Given the description of an element on the screen output the (x, y) to click on. 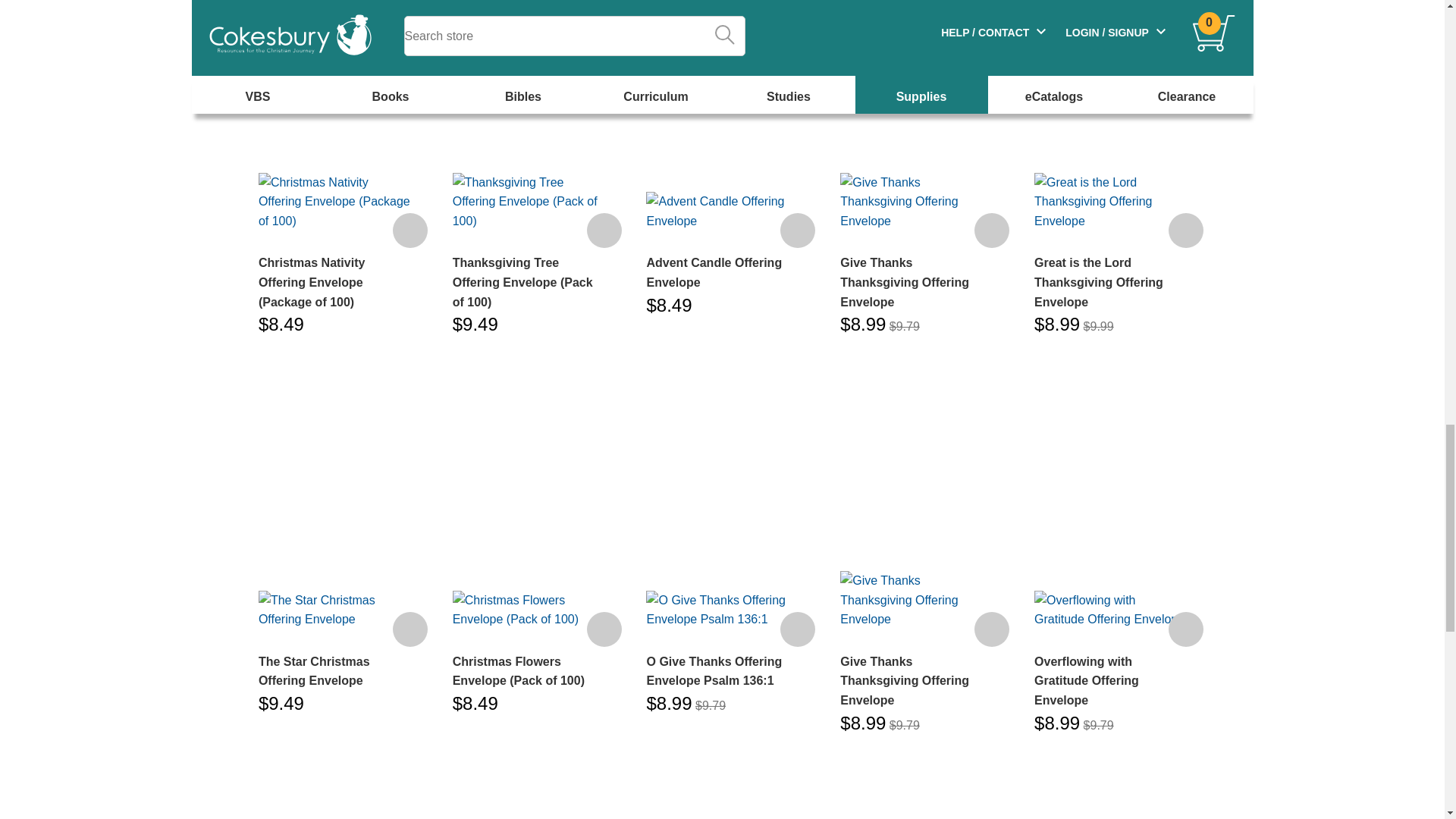
Add To Cart (797, 629)
Add To Cart (991, 629)
Add To Cart (410, 230)
Add To Cart (797, 230)
Add To Cart (991, 230)
Add To Cart (603, 629)
Add To Cart (603, 230)
Add To Cart (410, 629)
